Given the description of an element on the screen output the (x, y) to click on. 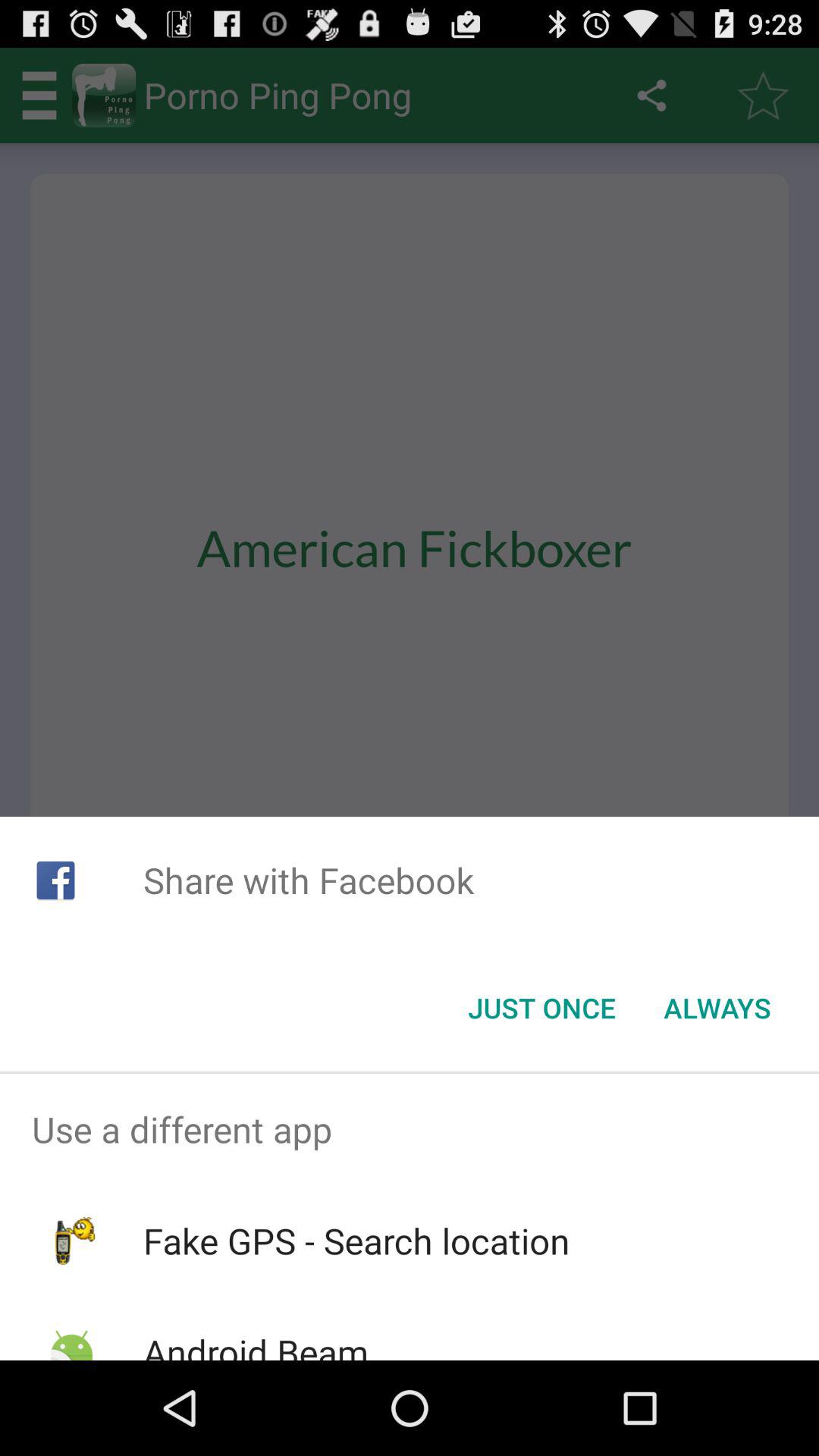
flip until the always (717, 1007)
